Given the description of an element on the screen output the (x, y) to click on. 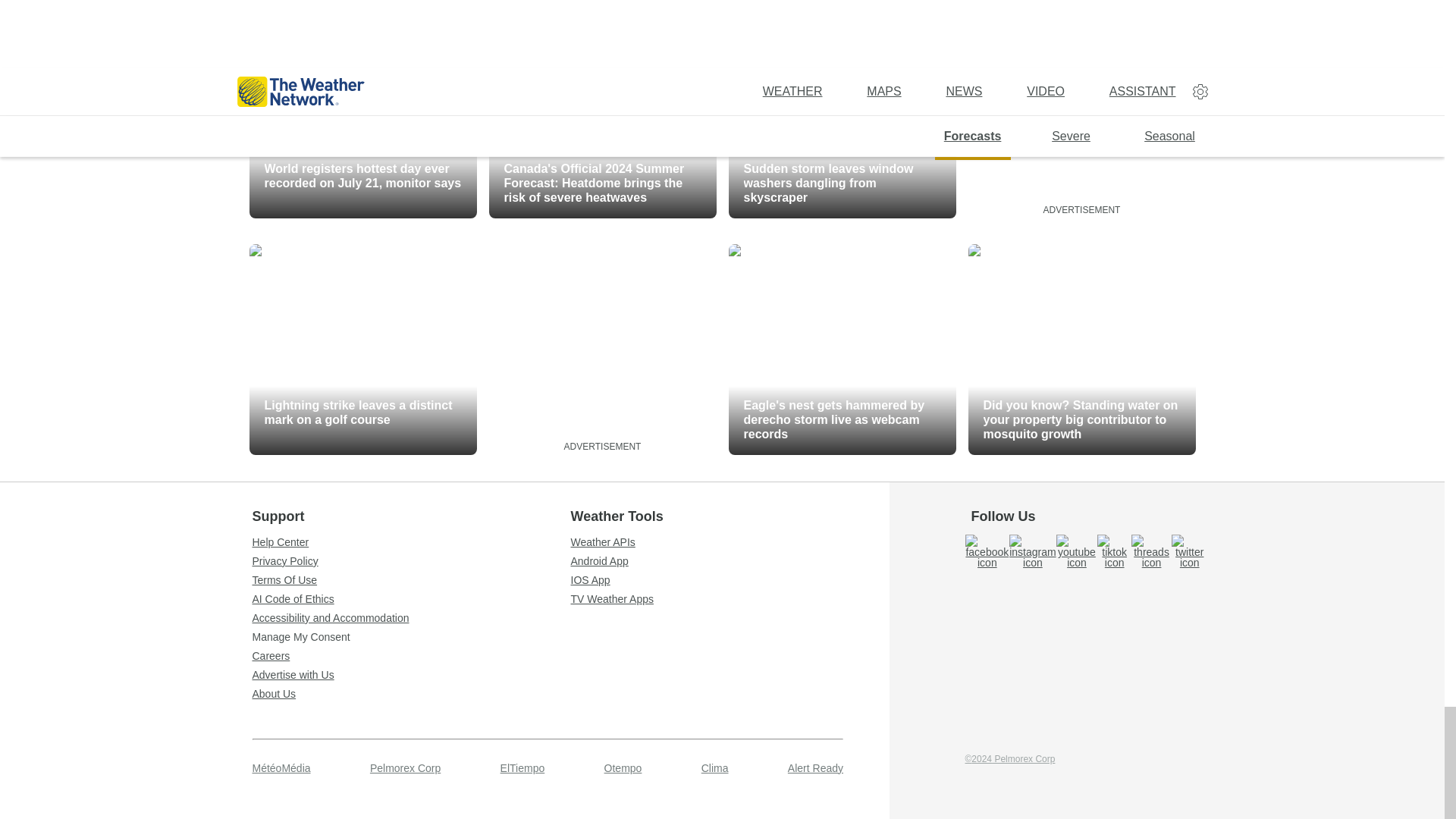
About Us (410, 693)
AI Code of Ethics (410, 598)
Terms Of Use (410, 579)
Help Center (410, 542)
Manage My Consent (410, 636)
IOS App (729, 579)
Android App (729, 561)
Weather APIs (729, 542)
Careers (410, 655)
Sudden storm leaves window washers dangling from skyscraper (841, 112)
Advertise with Us (410, 674)
